Given the description of an element on the screen output the (x, y) to click on. 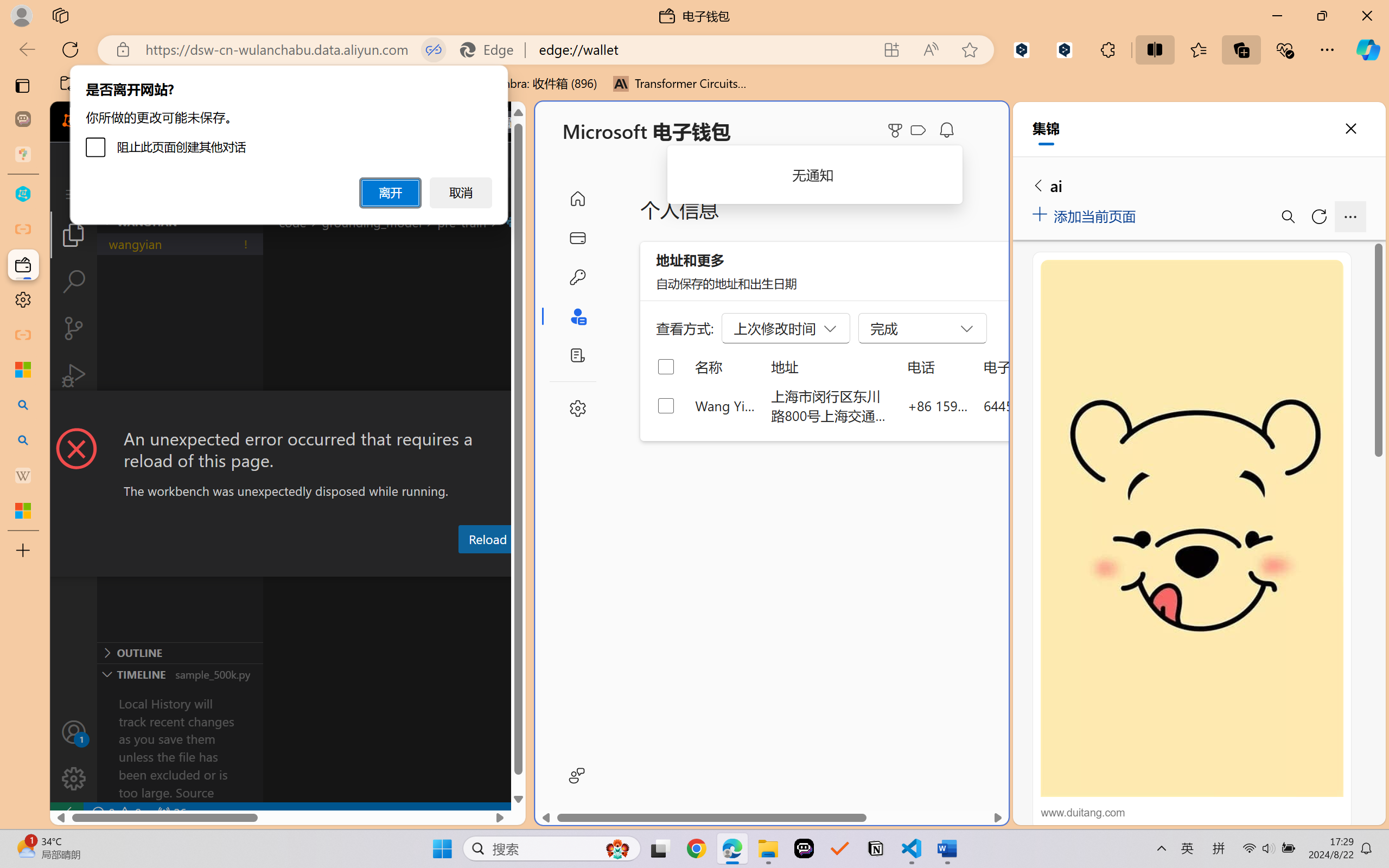
Run and Debug (Ctrl+Shift+D) (73, 375)
Microsoft security help and learning (22, 369)
